Given the description of an element on the screen output the (x, y) to click on. 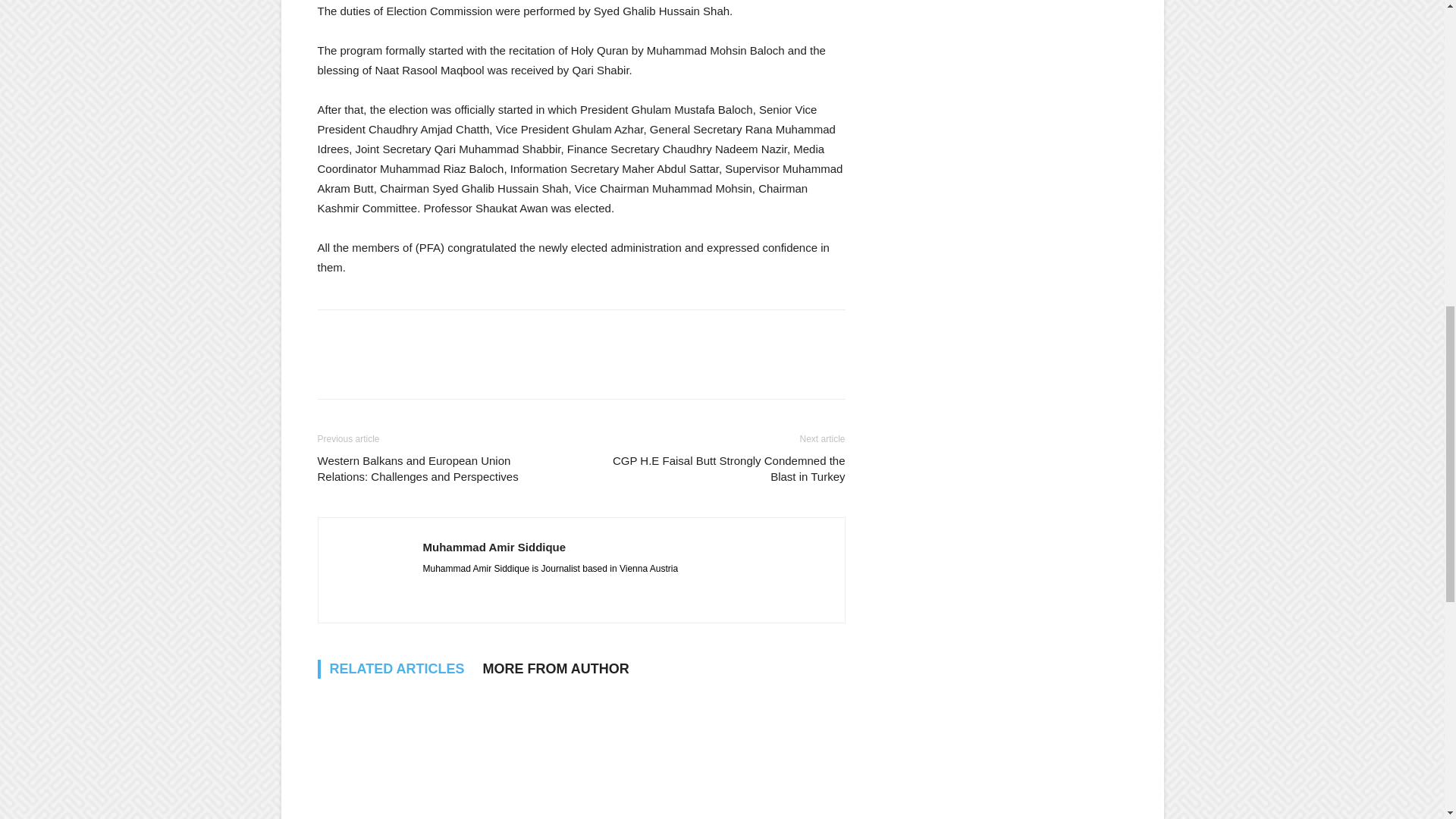
Hamas leader Ismail Haniyeh killed in an Israeli Attack (399, 755)
Ambassador Kamran Akhtar Presented his credentials to UN (580, 755)
